Given the description of an element on the screen output the (x, y) to click on. 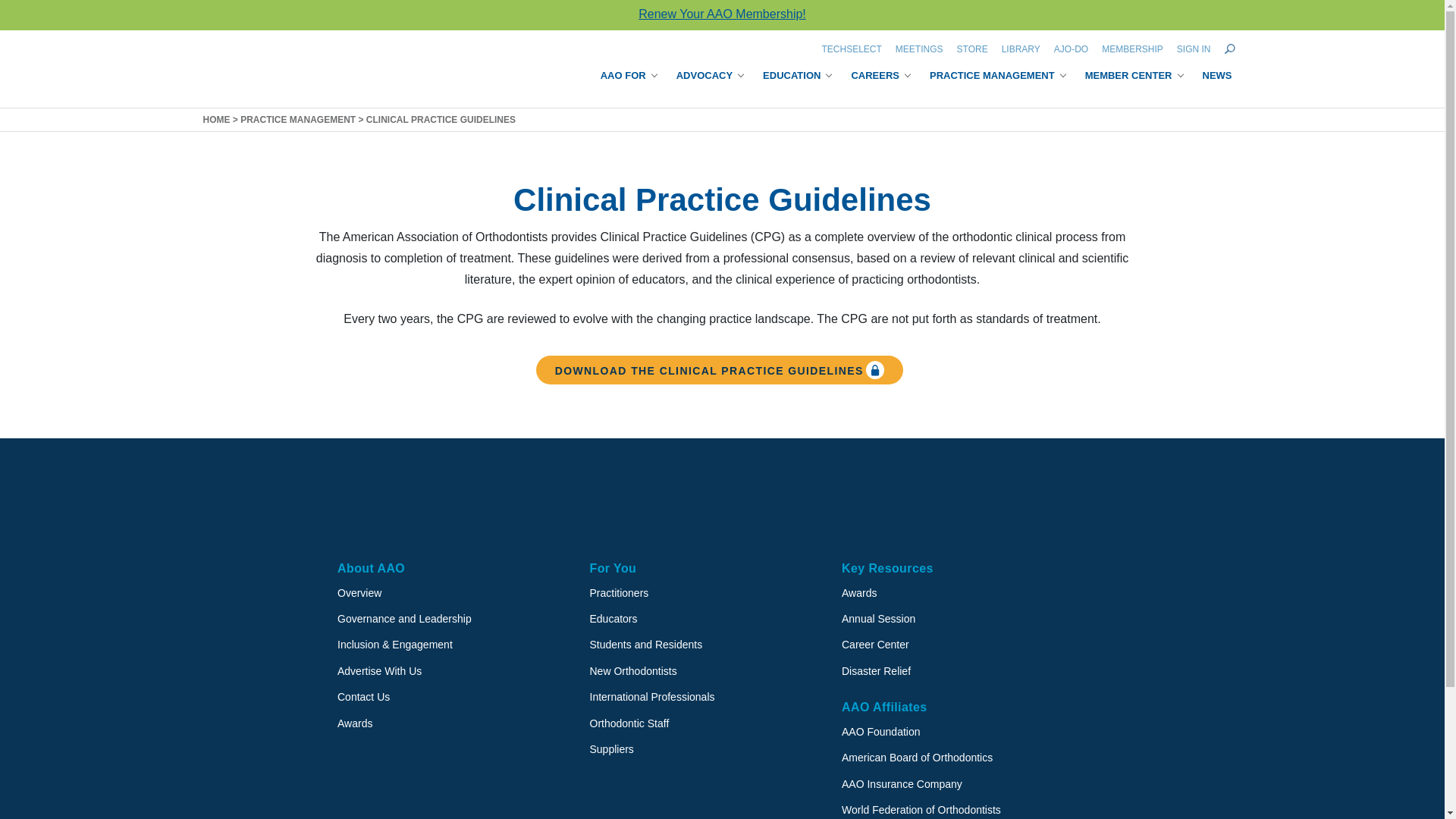
ADVOCACY (709, 76)
Renew Your AAO Membership! (722, 13)
AAO (397, 502)
EDUCATION (796, 76)
LIBRARY (1020, 49)
Search (1229, 48)
STORE (972, 49)
MEETINGS (919, 49)
MEMBERSHIP (1132, 49)
AAO (279, 68)
SIGN IN (1193, 49)
Skip to main content (14, 3)
Sign In (1193, 49)
TECHSELECT (850, 49)
AJO-DO (1070, 49)
